Given the description of an element on the screen output the (x, y) to click on. 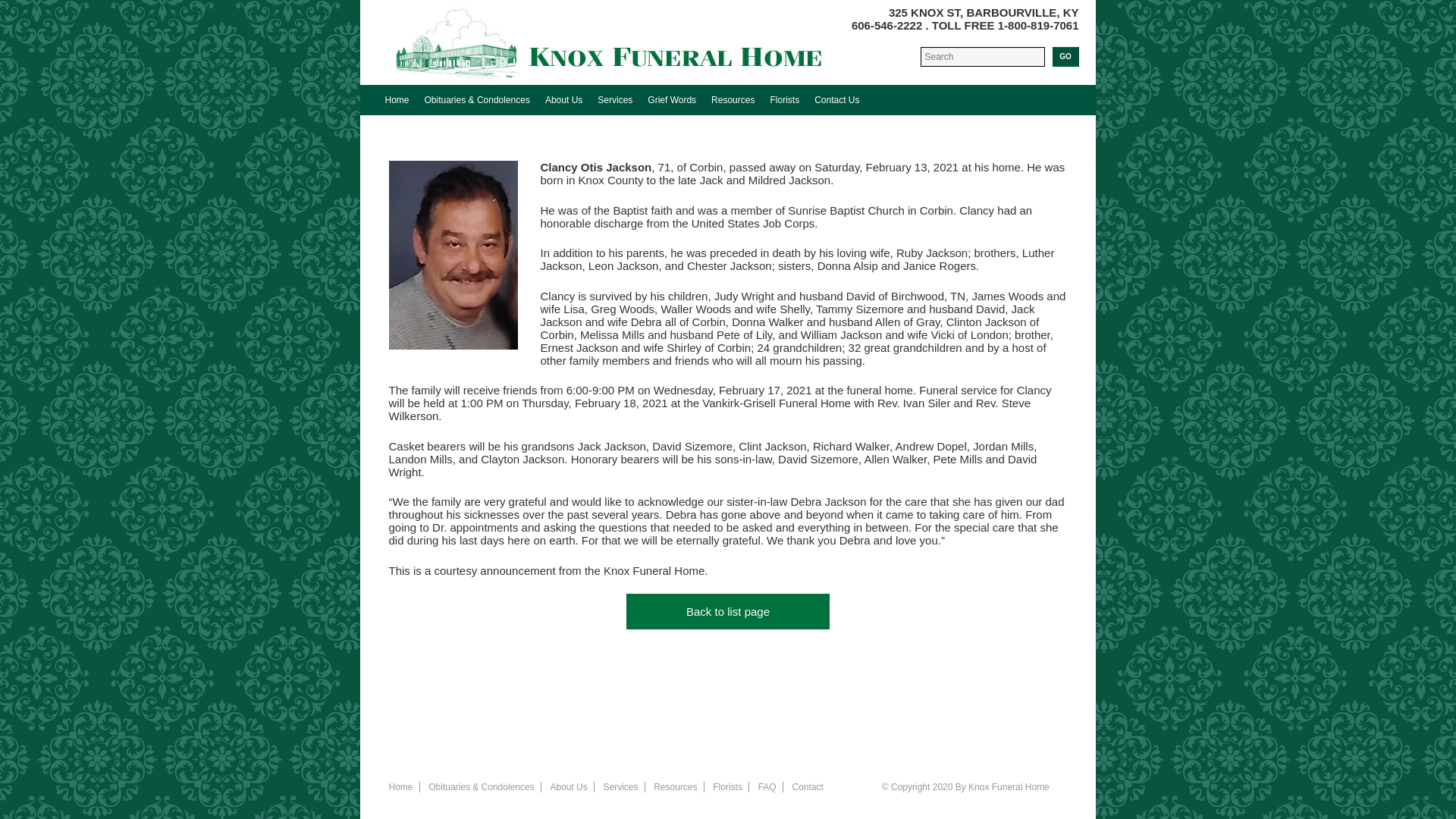
About Us (563, 100)
Florists (783, 100)
Contact Us (836, 100)
FAQ (770, 787)
Home (403, 787)
Back to list page (727, 611)
About Us (572, 787)
Contact (810, 787)
Resources (732, 100)
Services (622, 787)
Services (614, 100)
Home (396, 100)
GO (1065, 56)
GO (1065, 56)
Florists (730, 787)
